Given the description of an element on the screen output the (x, y) to click on. 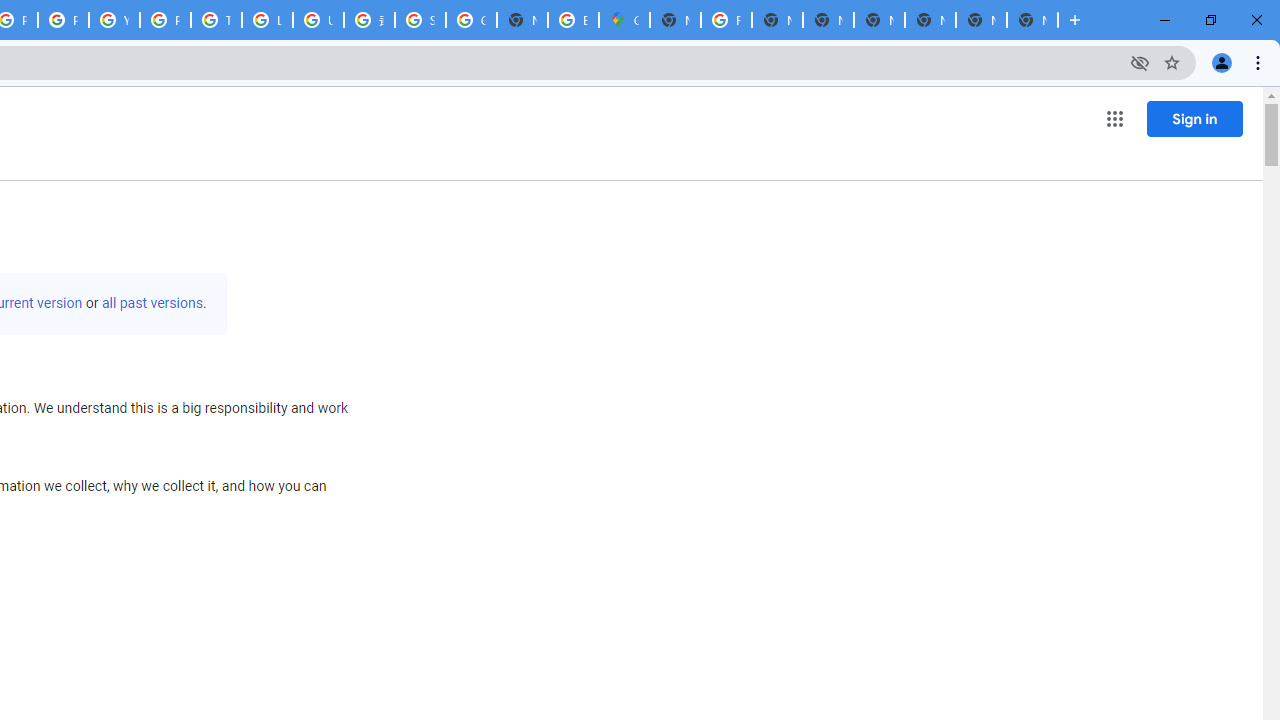
Google Maps (624, 20)
New Tab (981, 20)
Tips & tricks for Chrome - Google Chrome Help (215, 20)
YouTube (113, 20)
New Tab (930, 20)
all past versions (152, 303)
Explore new street-level details - Google Maps Help (573, 20)
